Given the description of an element on the screen output the (x, y) to click on. 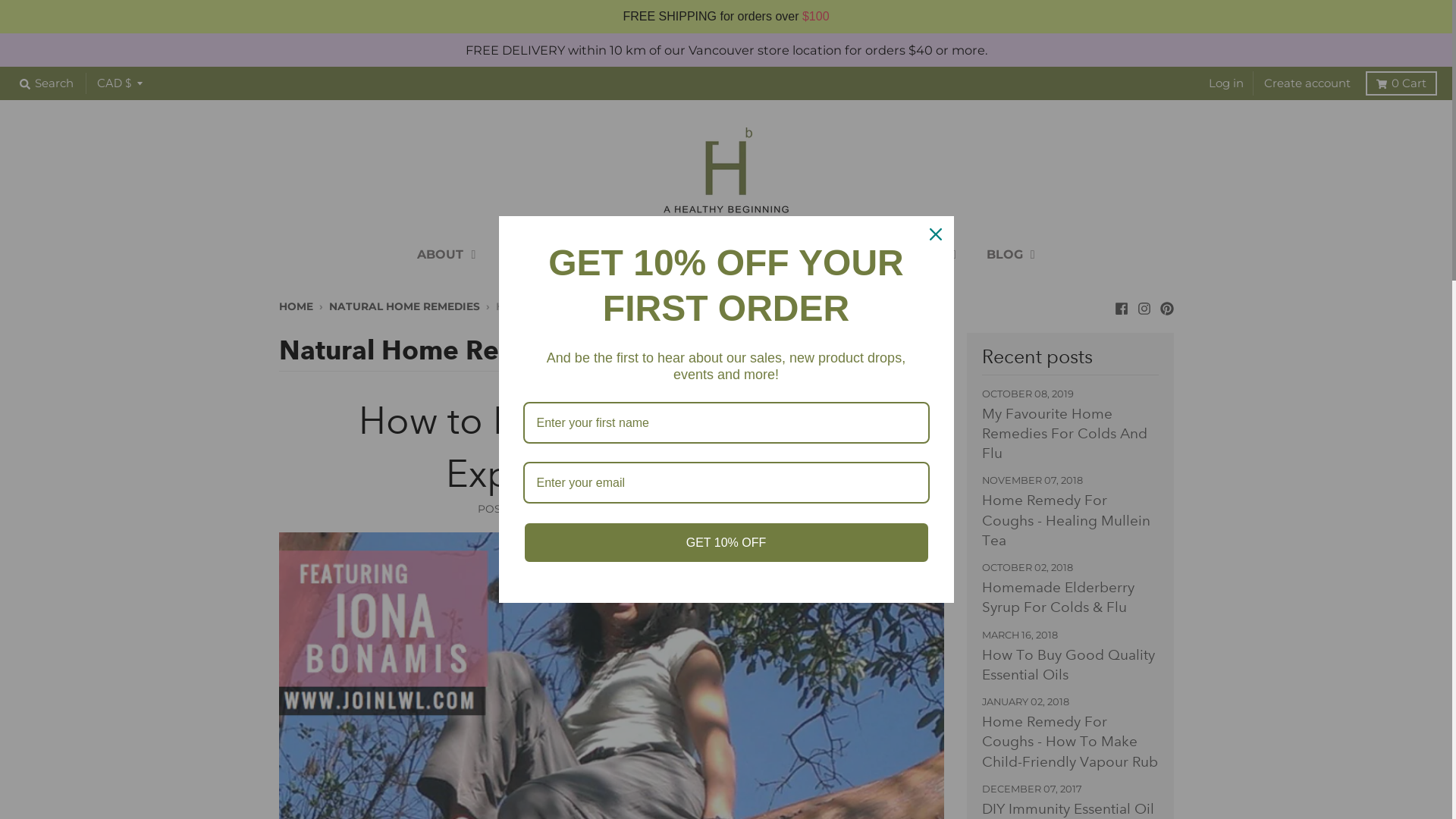
GET 10% OFF Element type: text (726, 542)
SERVICES & WORKSHOPS Element type: text (866, 254)
RETAILERS & MARKETS Element type: text (665, 254)
OCTOBER 02, 2018
Homemade Elderberry Syrup For Colds & Flu Element type: text (1070, 587)
0 Cart Element type: text (1401, 83)
ABOUT Element type: text (445, 254)
SHOP Element type: text (530, 254)
Facebook - A Healthy Beginning Element type: hover (1121, 304)
CAD $ Element type: text (119, 83)
Log in Element type: text (1226, 83)
Search Element type: text (46, 83)
BLOG Element type: text (1010, 254)
HOME Element type: text (296, 306)
Pinterest - A Healthy Beginning Element type: hover (1166, 304)
Create account Element type: text (1307, 83)
Instagram - A Healthy Beginning Element type: hover (1144, 304)
NATURAL HOME REMEDIES Element type: text (404, 306)
MARCH 16, 2018
How To Buy Good Quality Essential Oils Element type: text (1070, 654)
